Given the description of an element on the screen output the (x, y) to click on. 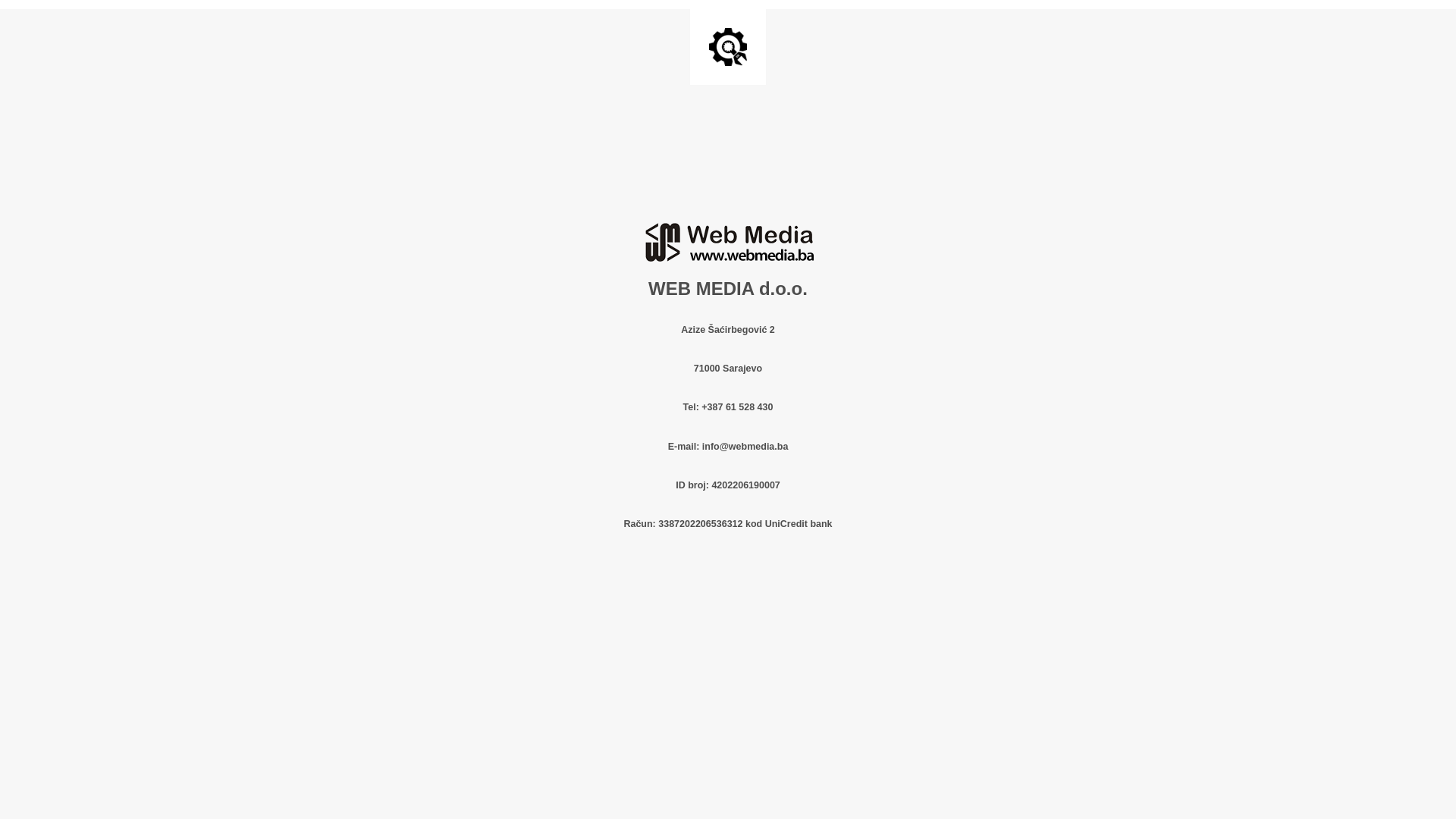
Site is Under Construction Element type: hover (727, 46)
